Given the description of an element on the screen output the (x, y) to click on. 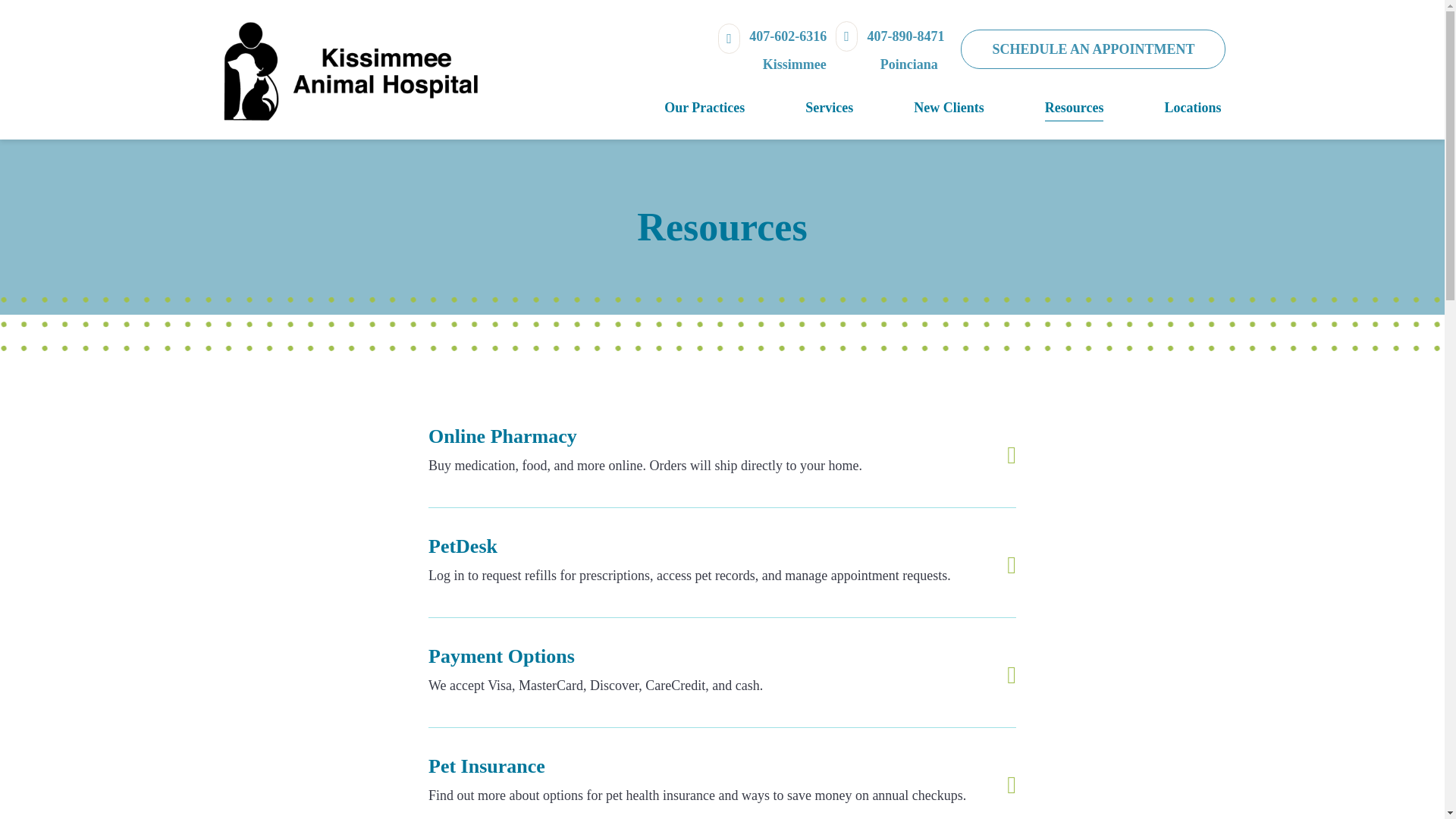
Resources (1043, 107)
407-602-6316 (772, 50)
Locations (1162, 107)
Our Practices (674, 107)
New Clients (918, 107)
407-890-8471 (889, 50)
Services (798, 107)
SCHEDULE AN APPOINTMENT (1092, 49)
